Given the description of an element on the screen output the (x, y) to click on. 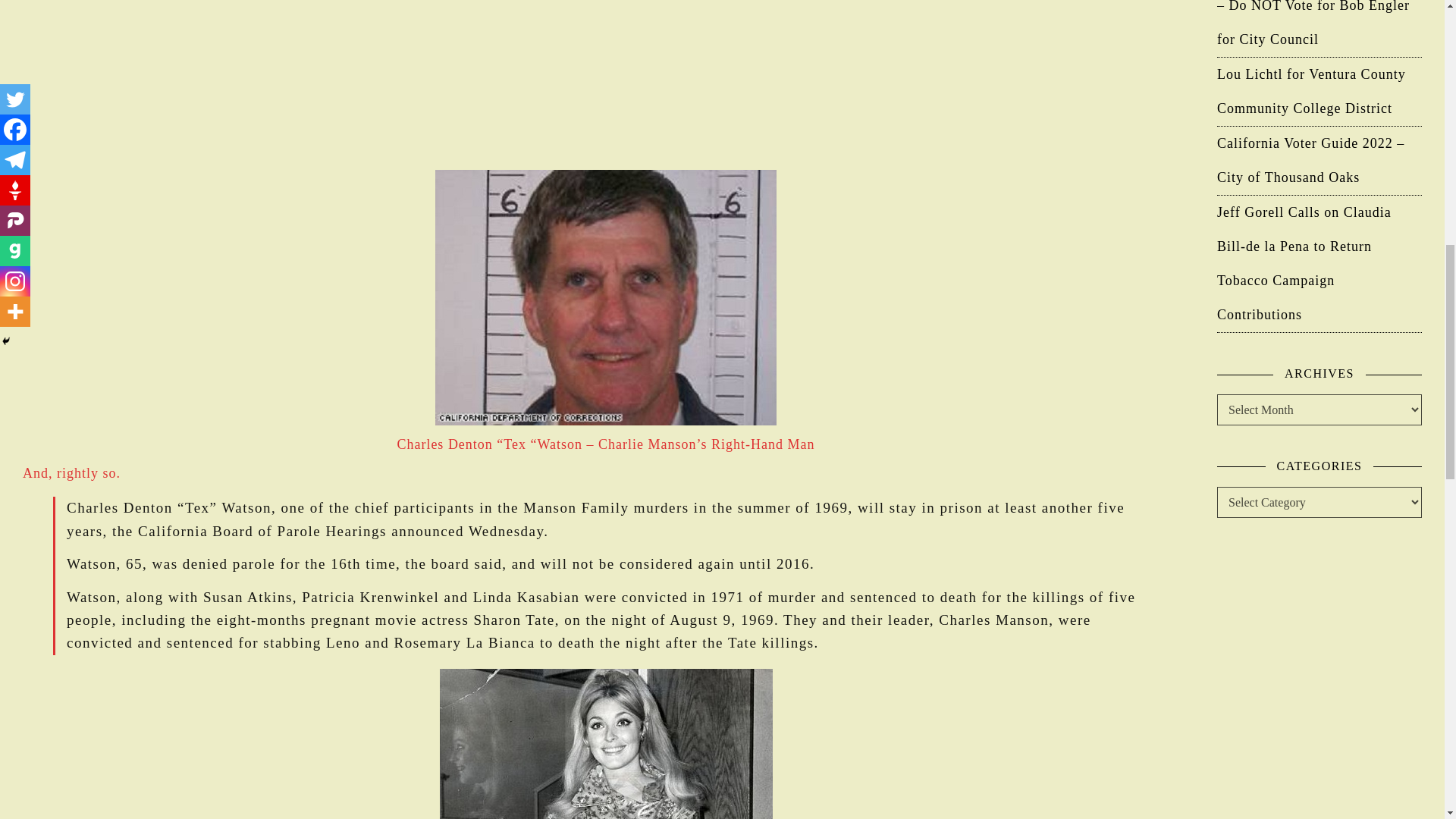
And, rightly so. (71, 473)
